Given the description of an element on the screen output the (x, y) to click on. 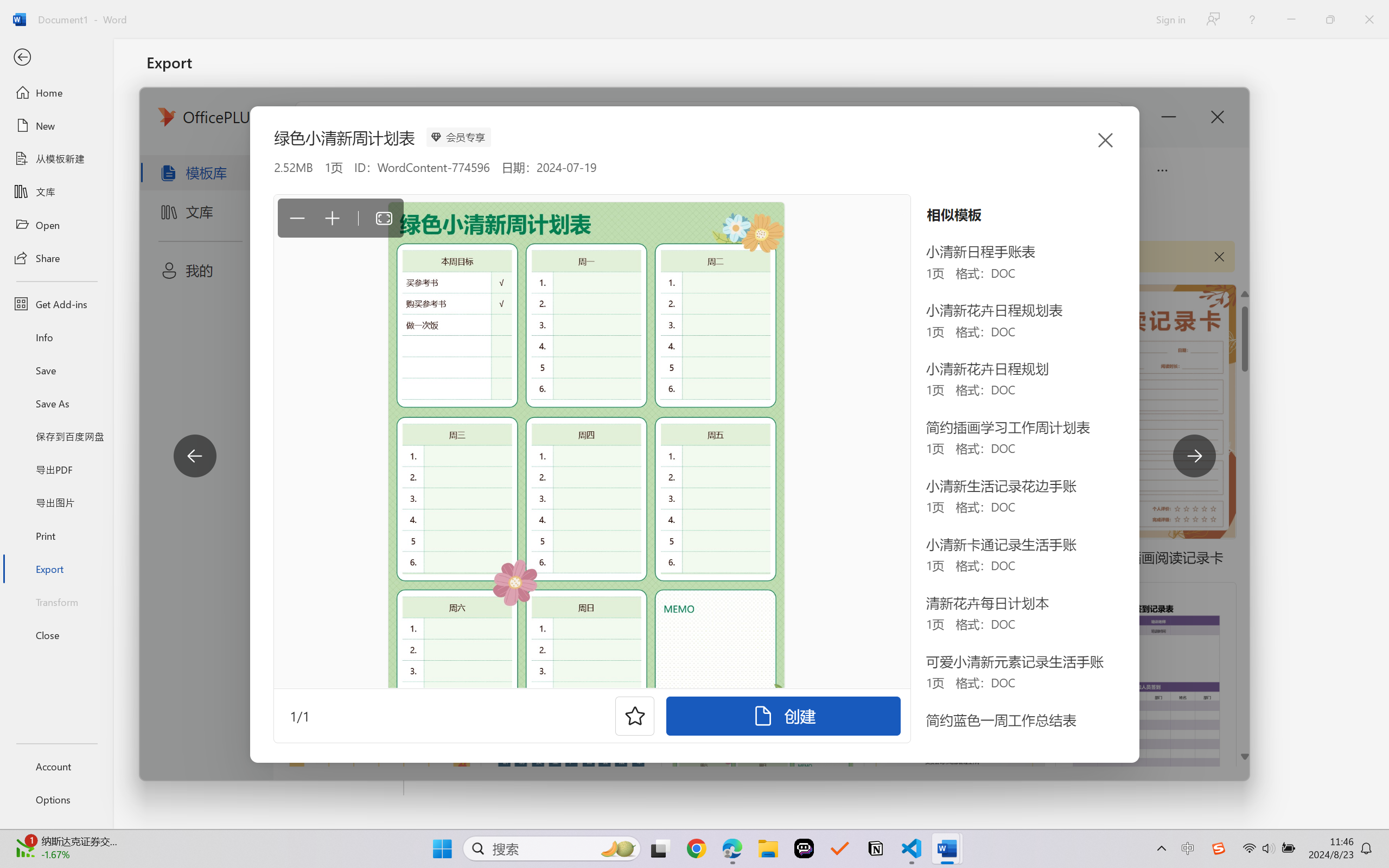
Get Add-ins (56, 303)
New (56, 125)
